Given the description of an element on the screen output the (x, y) to click on. 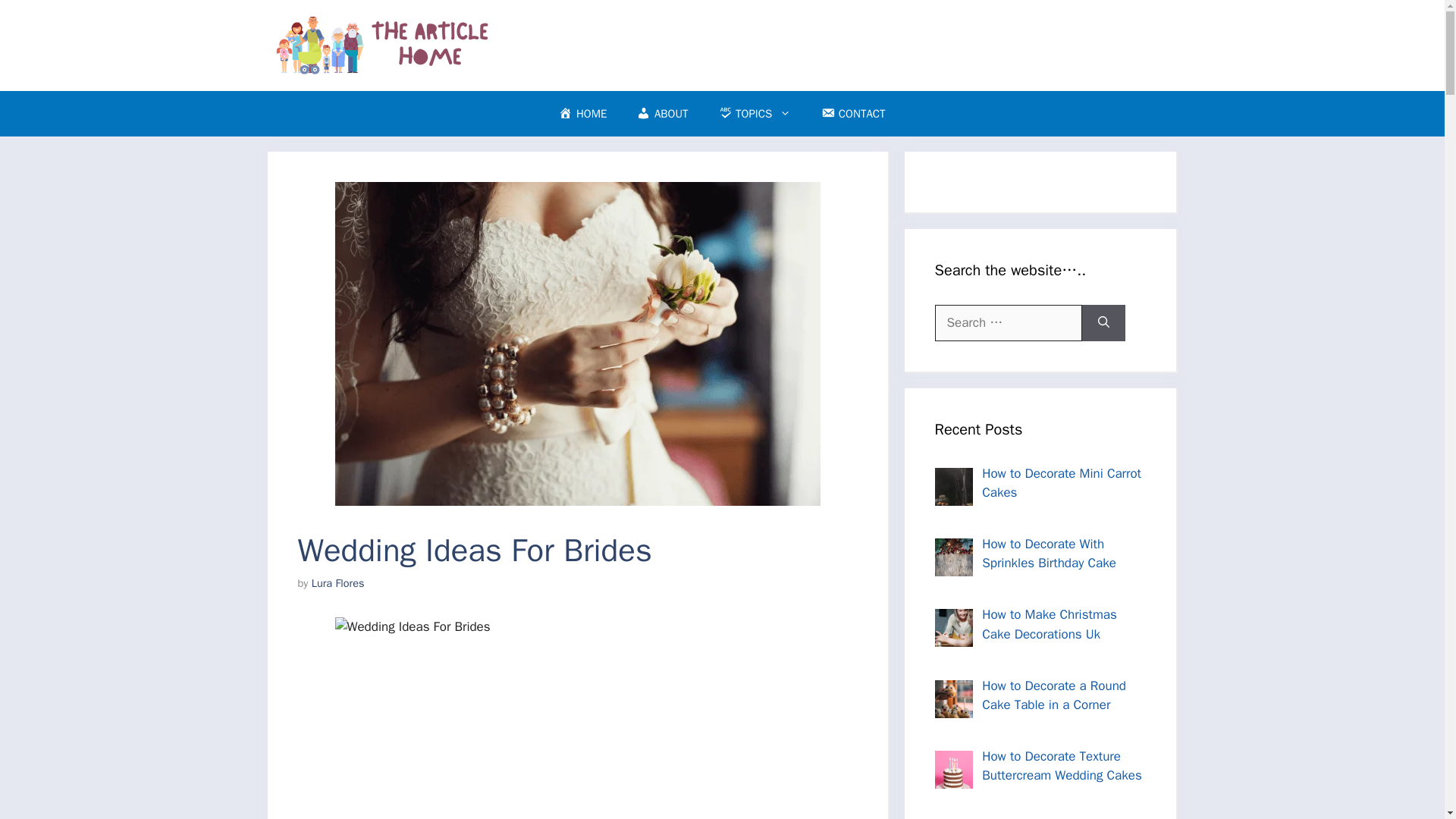
HOME (582, 113)
View all posts by Lura Flores (338, 582)
TOPICS (754, 113)
Wedding Ideas For Brides 2 (577, 718)
ABOUT (662, 113)
